Given the description of an element on the screen output the (x, y) to click on. 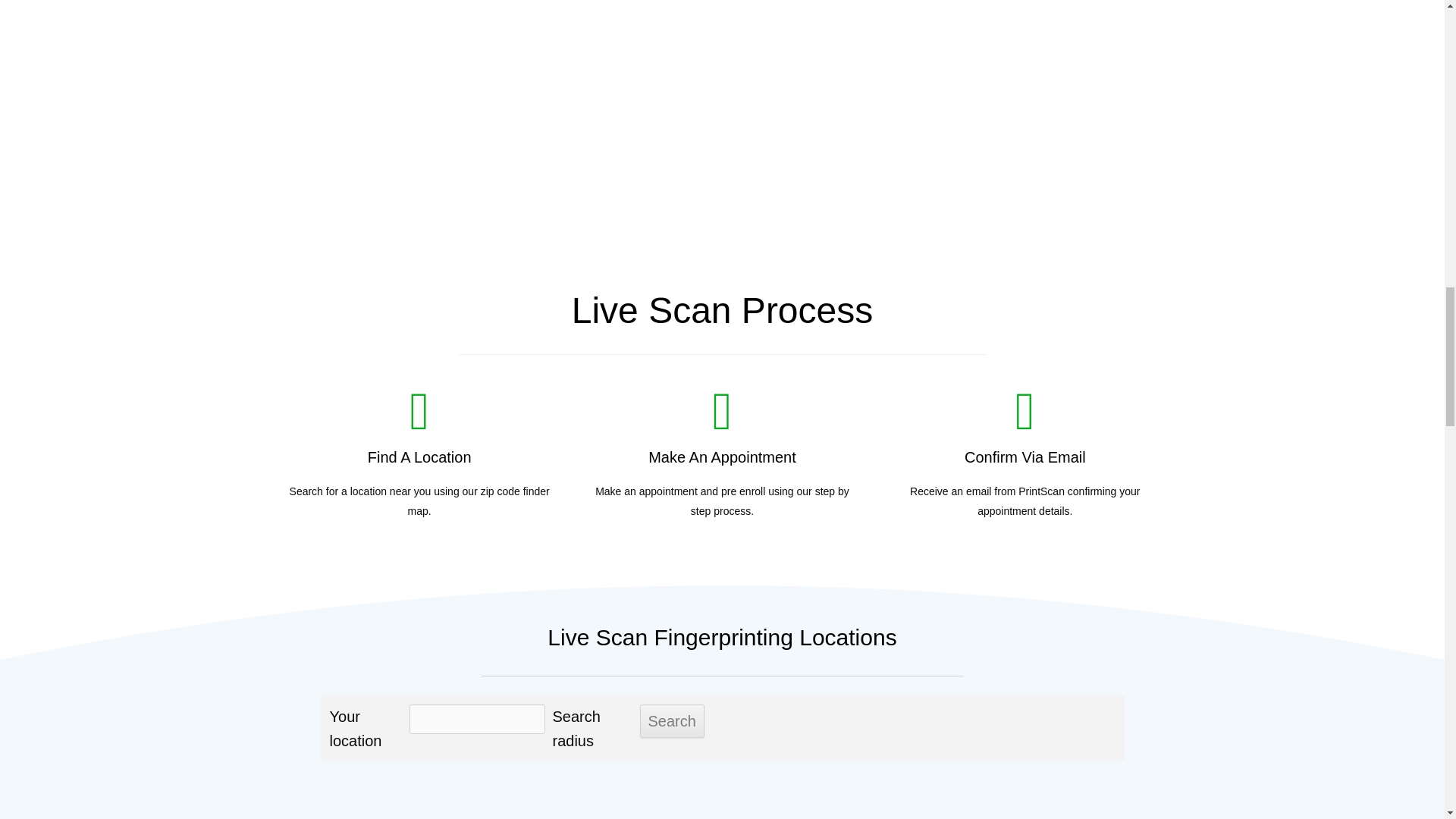
Search (672, 721)
